Given the description of an element on the screen output the (x, y) to click on. 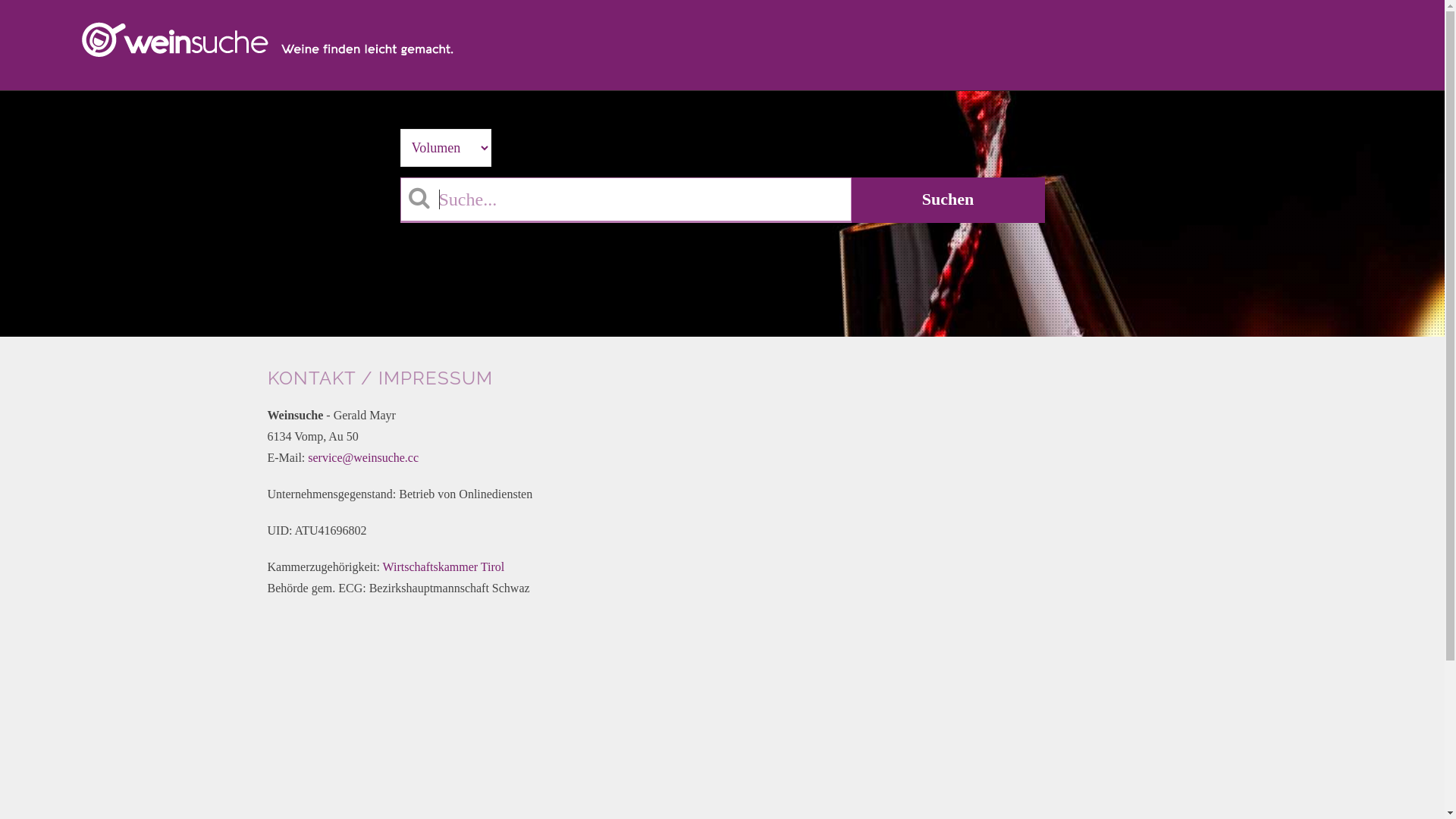
service@weinsuche.cc Element type: text (362, 457)
Wirtschaftskammer Tirol Element type: text (443, 566)
Suchen Element type: text (947, 199)
